Given the description of an element on the screen output the (x, y) to click on. 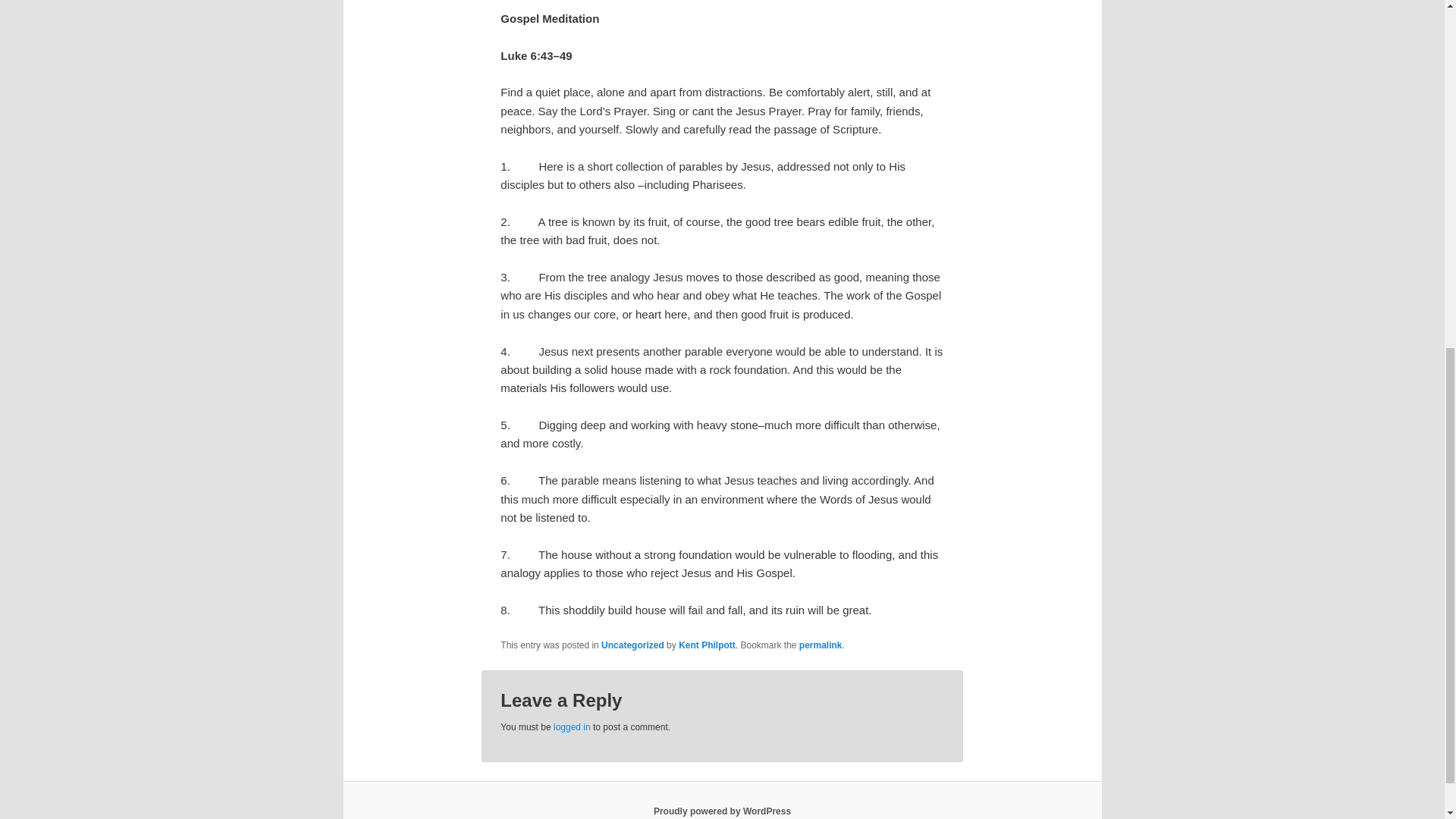
Semantic Personal Publishing Platform (721, 810)
Kent Philpott (706, 644)
permalink (821, 644)
Proudly powered by WordPress (721, 810)
Uncategorized (632, 644)
logged in (572, 726)
